Given the description of an element on the screen output the (x, y) to click on. 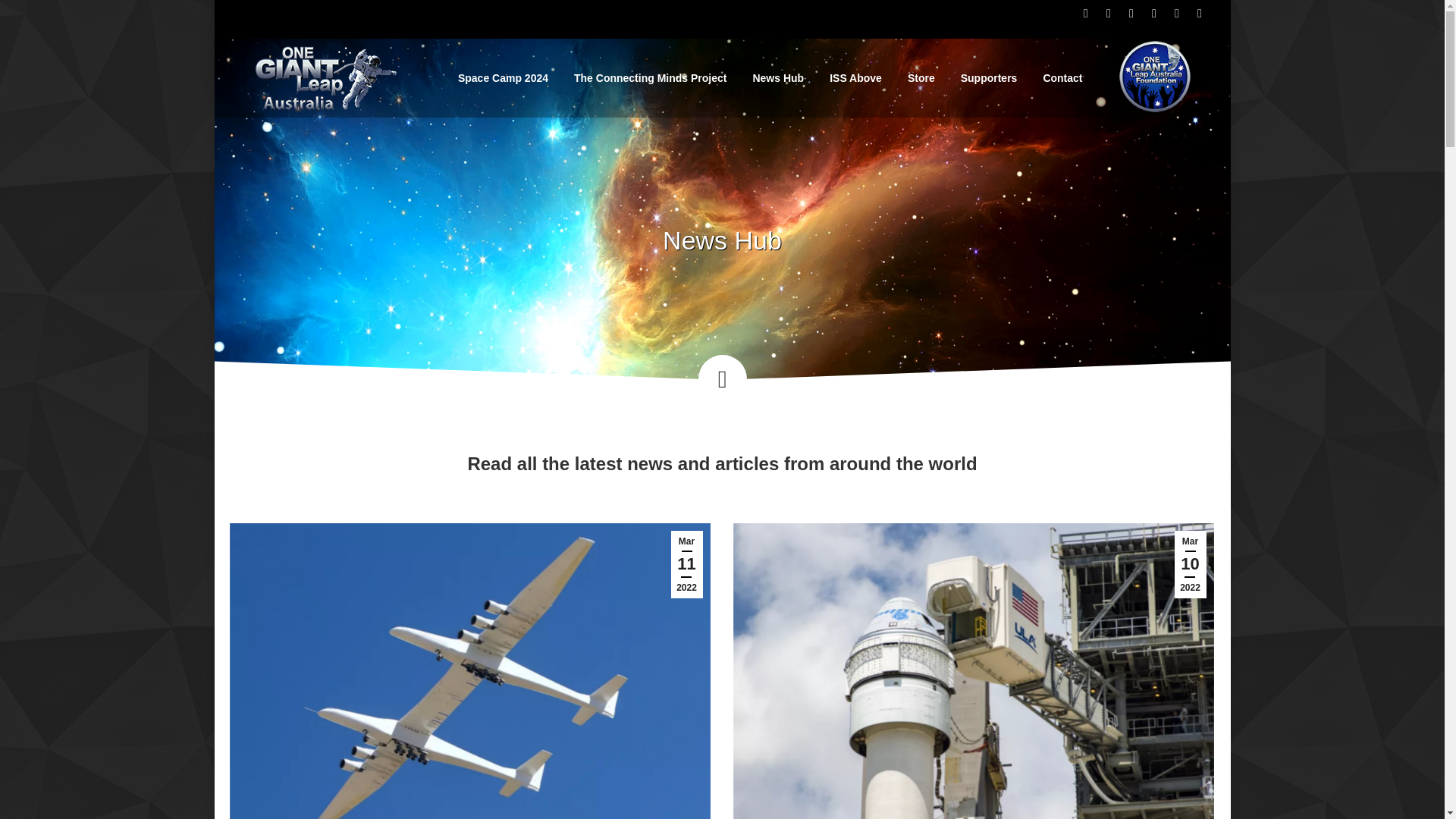
Facebook page opens in new window (1108, 13)
News Hub (778, 78)
Instagram page opens in new window (1131, 13)
The Connecting Minds Project (650, 78)
X page opens in new window (1085, 13)
Space Camp 2024 (502, 78)
YouTube page opens in new window (1176, 13)
Linkedin page opens in new window (1153, 13)
X page opens in new window (1085, 13)
Supporters (989, 78)
